Given the description of an element on the screen output the (x, y) to click on. 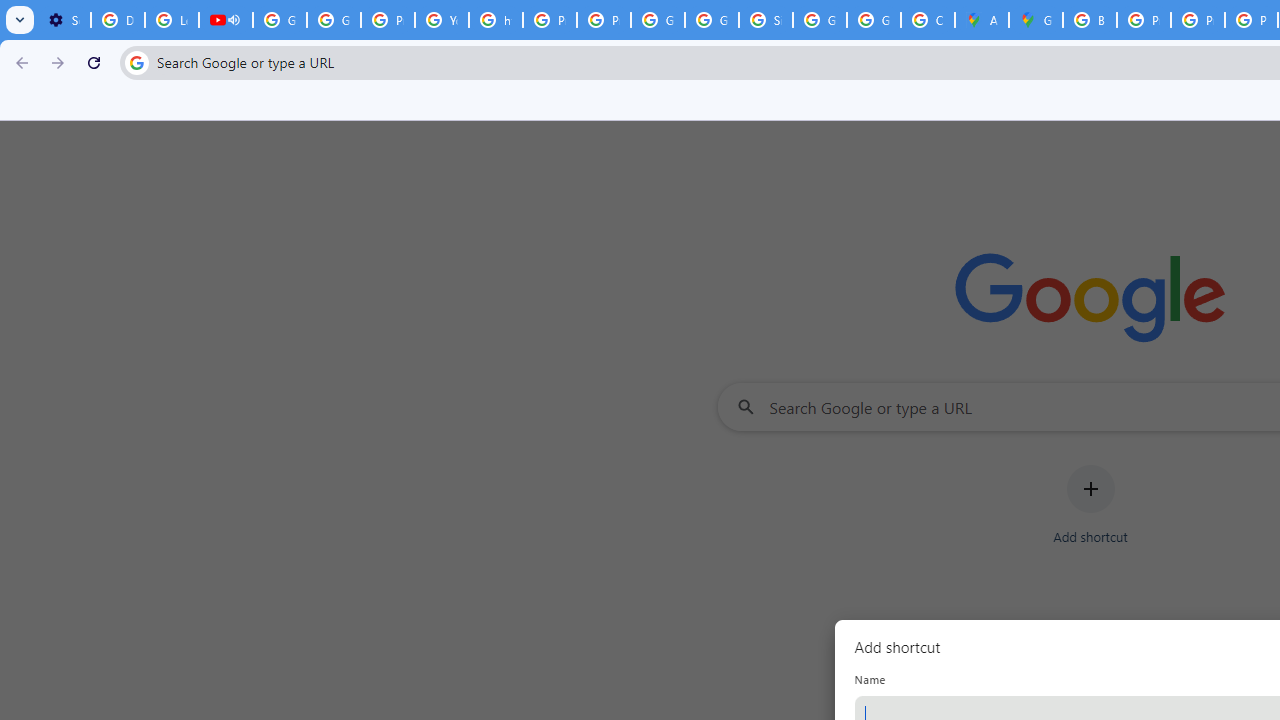
Mute tab (233, 20)
Search icon (136, 62)
Sign in - Google Accounts (765, 20)
Google Account Help (333, 20)
YouTube (441, 20)
Delete photos & videos - Computer - Google Photos Help (117, 20)
Settings - Customize profile (63, 20)
